Given the description of an element on the screen output the (x, y) to click on. 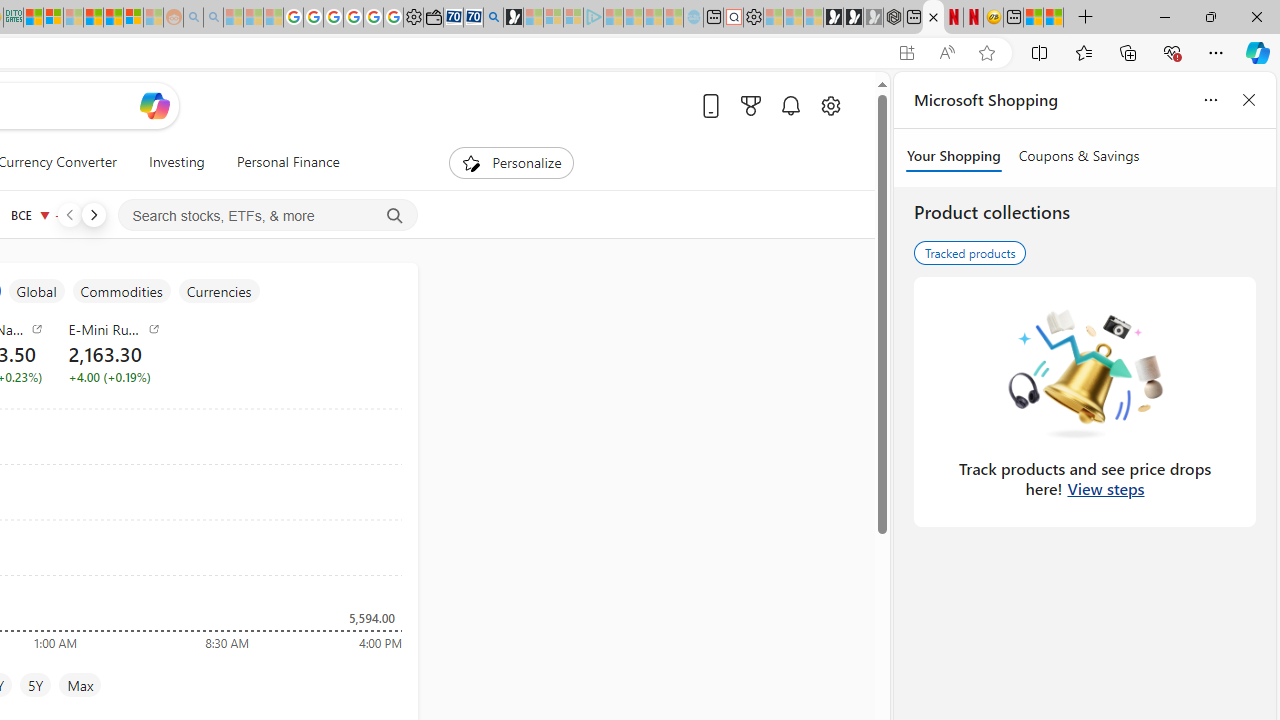
Previous (69, 214)
Search stocks, ETFs, & more (267, 215)
Bing Real Estate - Home sales and rental listings (493, 17)
